Given the description of an element on the screen output the (x, y) to click on. 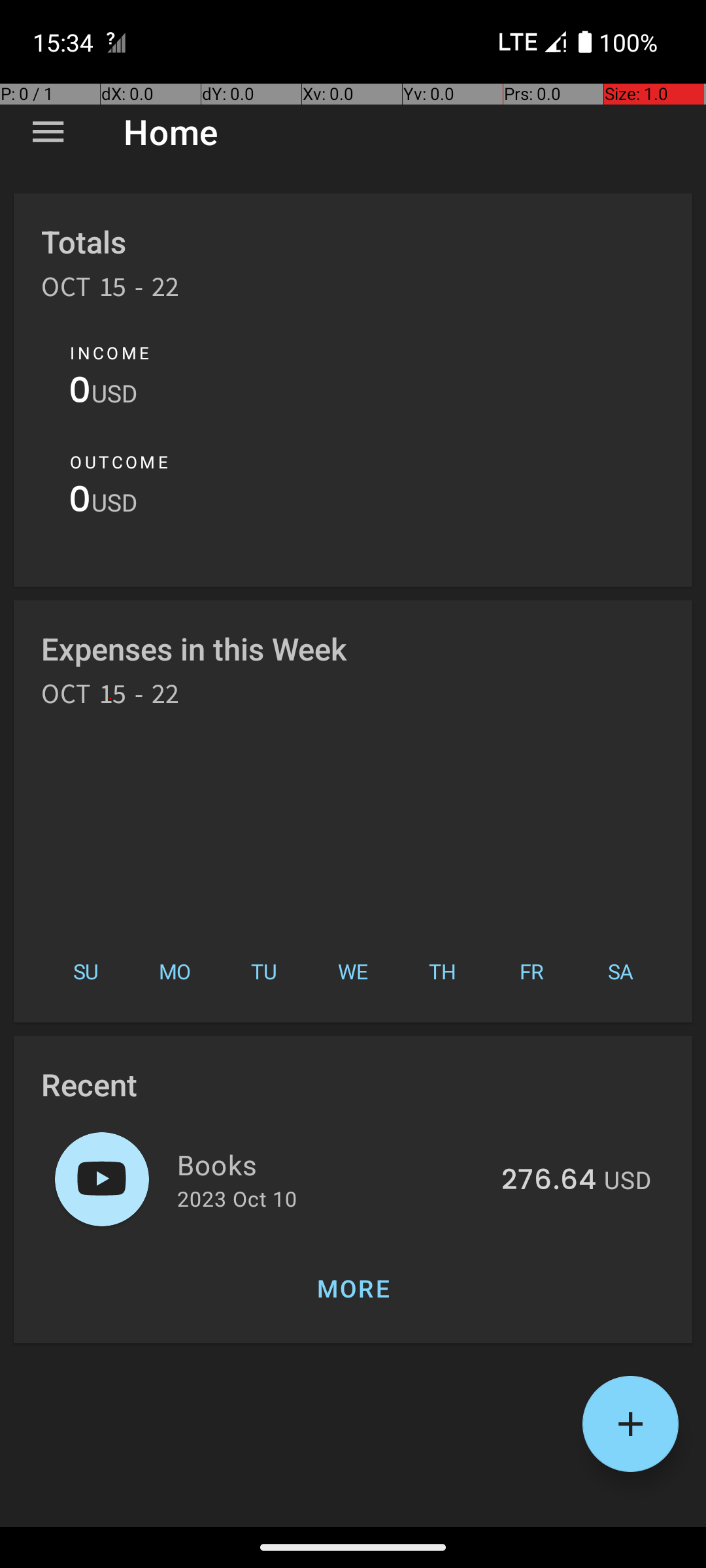
Books Element type: android.widget.TextView (331, 1164)
276.64 Element type: android.widget.TextView (548, 1180)
